Given the description of an element on the screen output the (x, y) to click on. 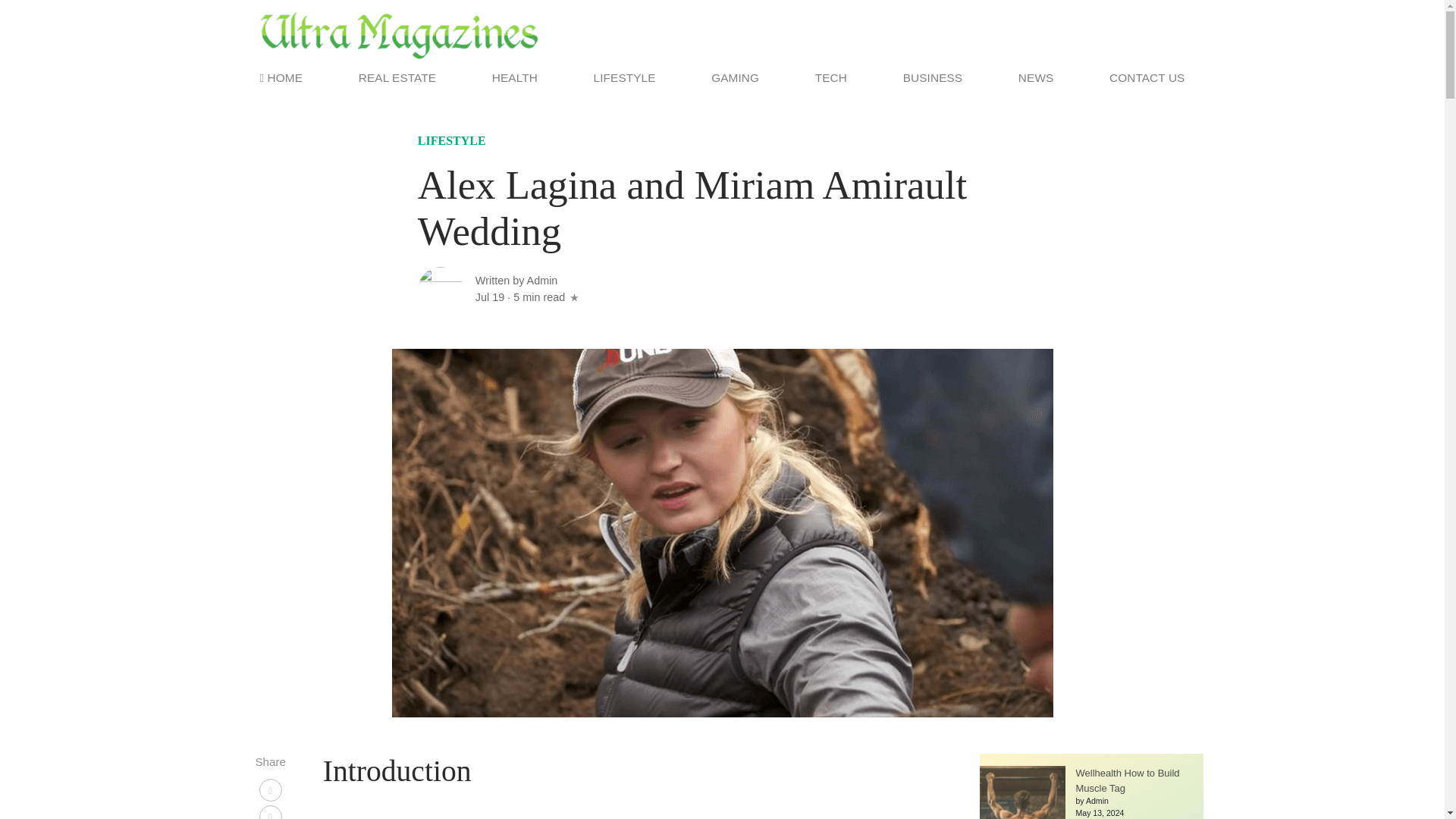
TECH (831, 77)
Written by Admin (516, 280)
HEALTH (514, 77)
HOME (283, 77)
GAMING (734, 77)
CONTACT US (1144, 77)
BUSINESS (932, 77)
Wellhealth How to Build Muscle Tag (1127, 780)
REAL ESTATE (397, 77)
LIFESTYLE (451, 142)
LIFESTYLE (625, 77)
NEWS (1035, 77)
